Given the description of an element on the screen output the (x, y) to click on. 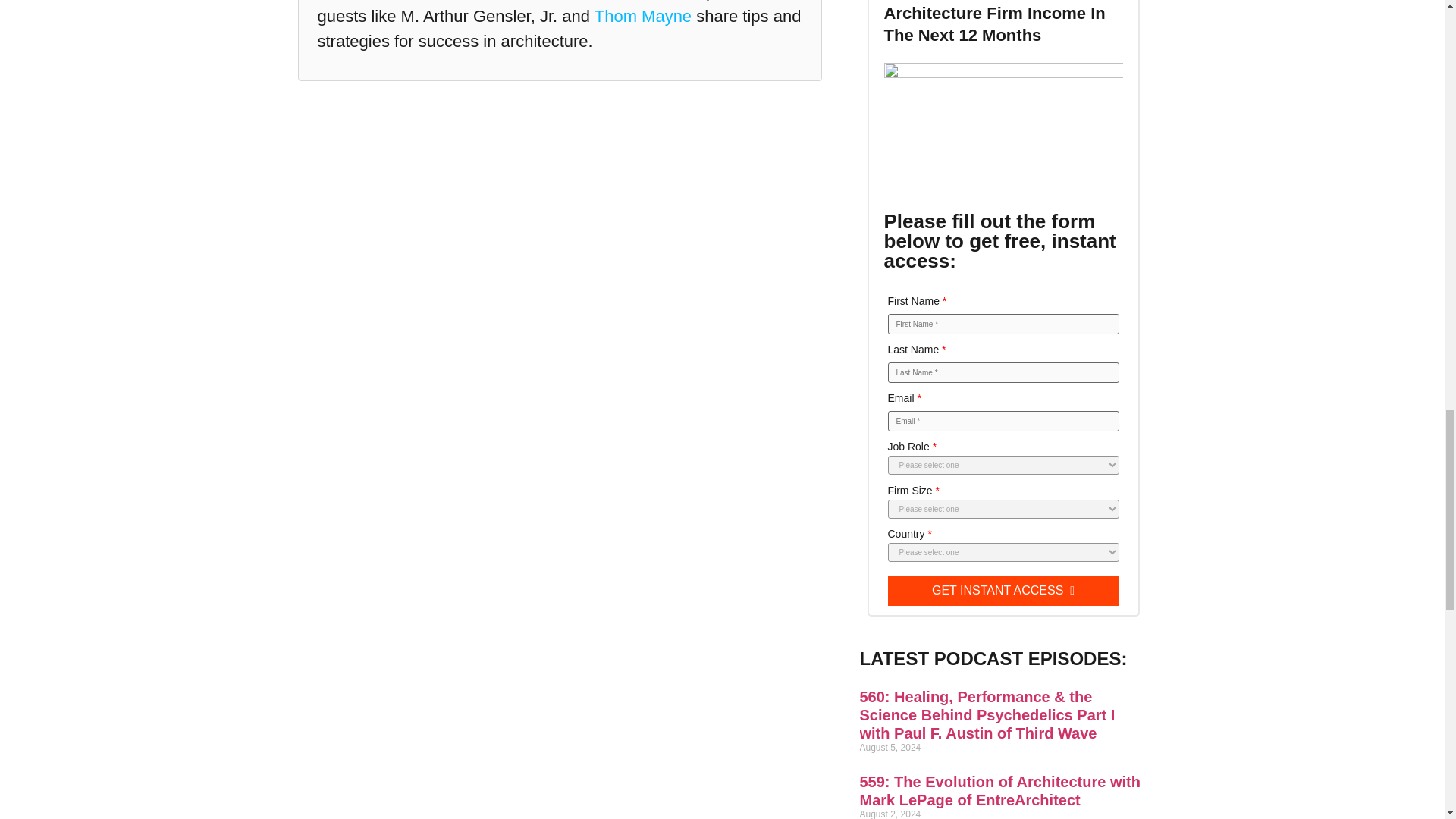
Thom Mayne (642, 15)
GET INSTANT ACCESS   (1002, 590)
